Given the description of an element on the screen output the (x, y) to click on. 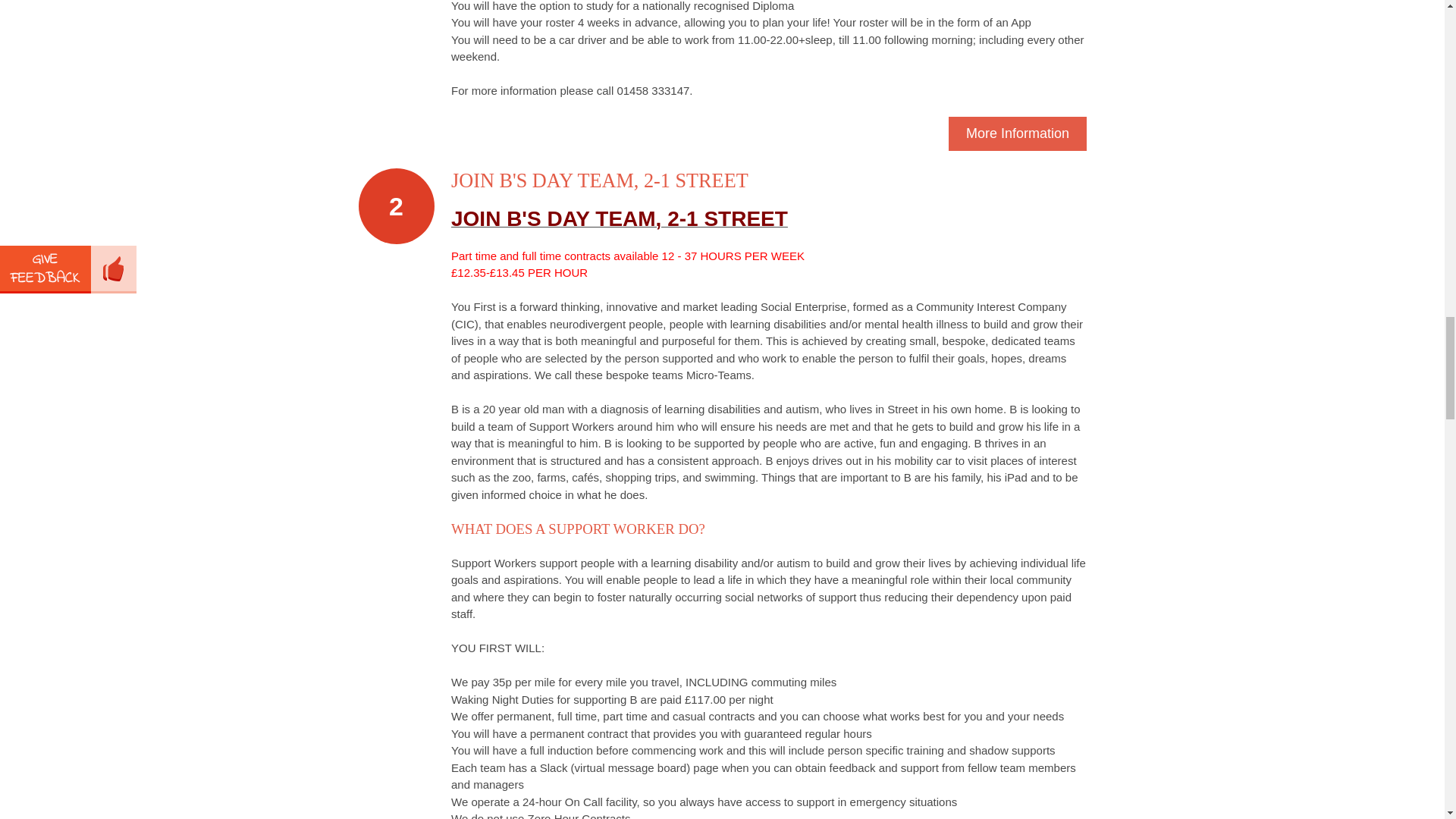
JOIN B'S DAY TEAM, 2-1 STREET (599, 180)
More Information (1017, 133)
